Given the description of an element on the screen output the (x, y) to click on. 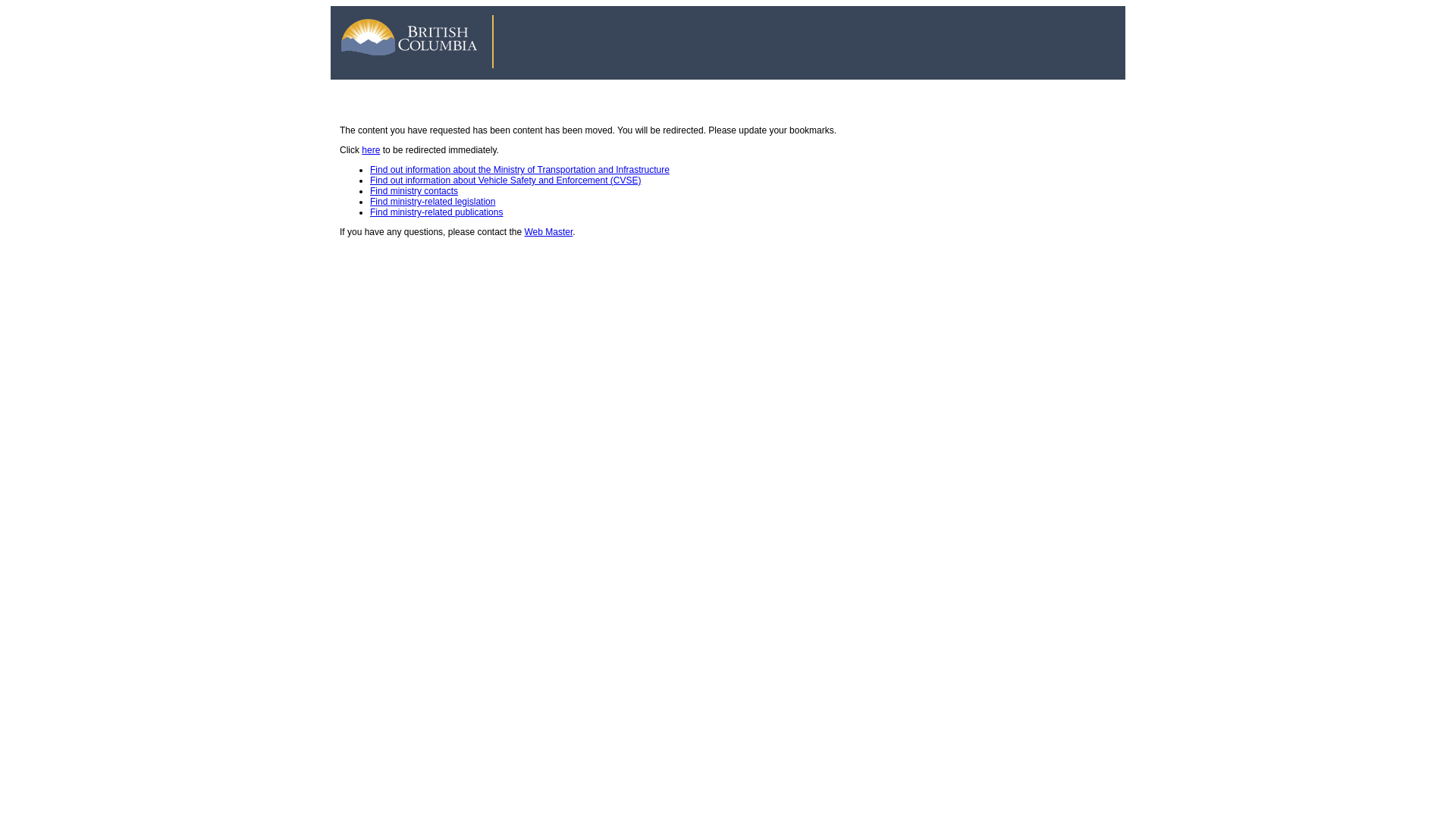
Web Master Element type: text (548, 231)
Find ministry-related legislation Element type: text (432, 201)
here Element type: text (370, 149)
Find ministry contacts Element type: text (414, 190)
Find ministry-related publications Element type: text (436, 212)
